Given the description of an element on the screen output the (x, y) to click on. 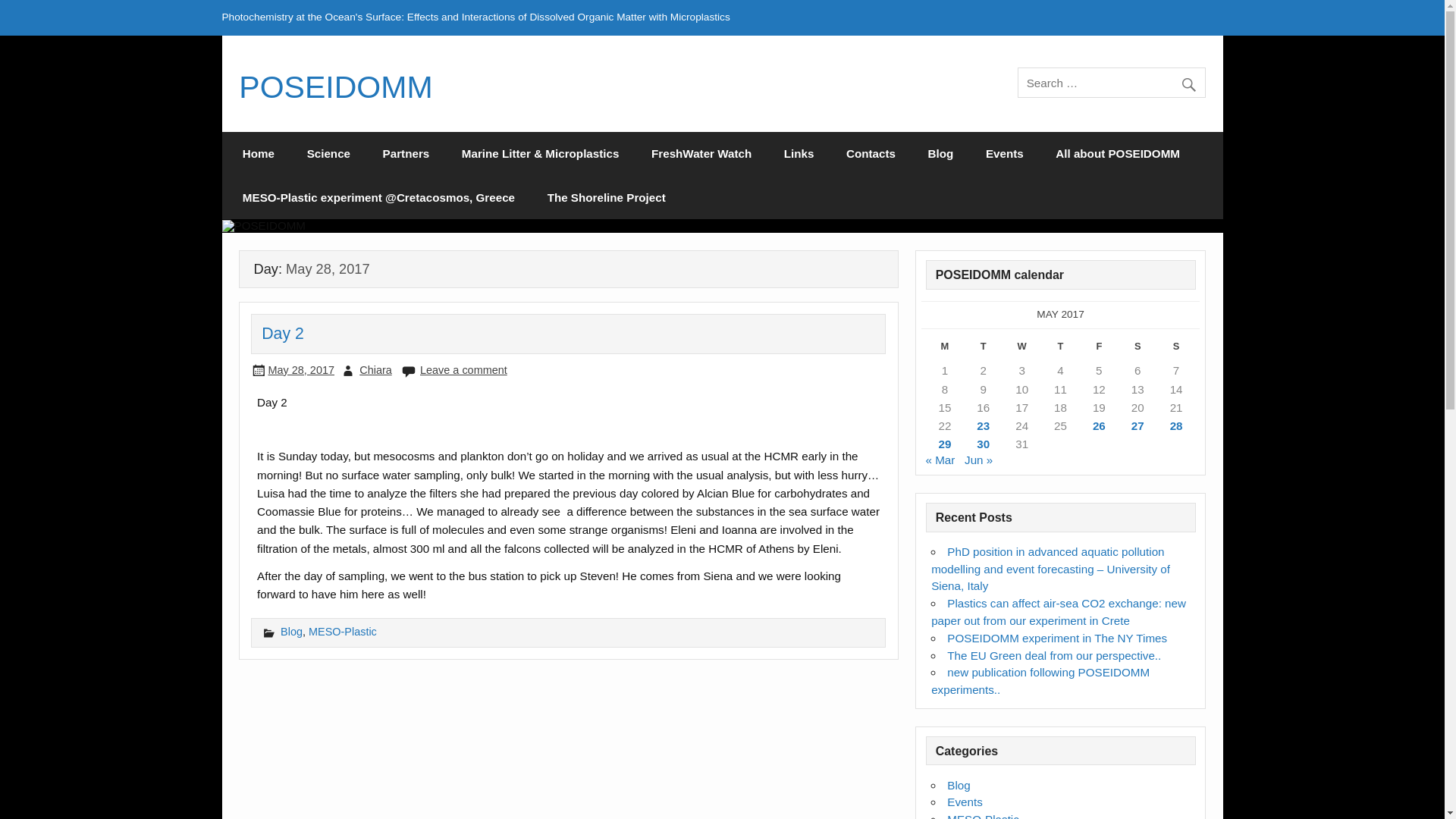
MESO-Plastic (983, 816)
Science (327, 153)
27 (1137, 425)
Friday (1099, 349)
Blog (940, 153)
Blog (291, 631)
28 (1176, 425)
8:44 PM (300, 369)
All about POSEIDOMM (1117, 153)
Day 2 (283, 333)
View all posts by Chiara (375, 369)
POSEIDOMM experiment in The NY Times (1057, 637)
29 (945, 443)
POSEIDOMM (335, 86)
